Given the description of an element on the screen output the (x, y) to click on. 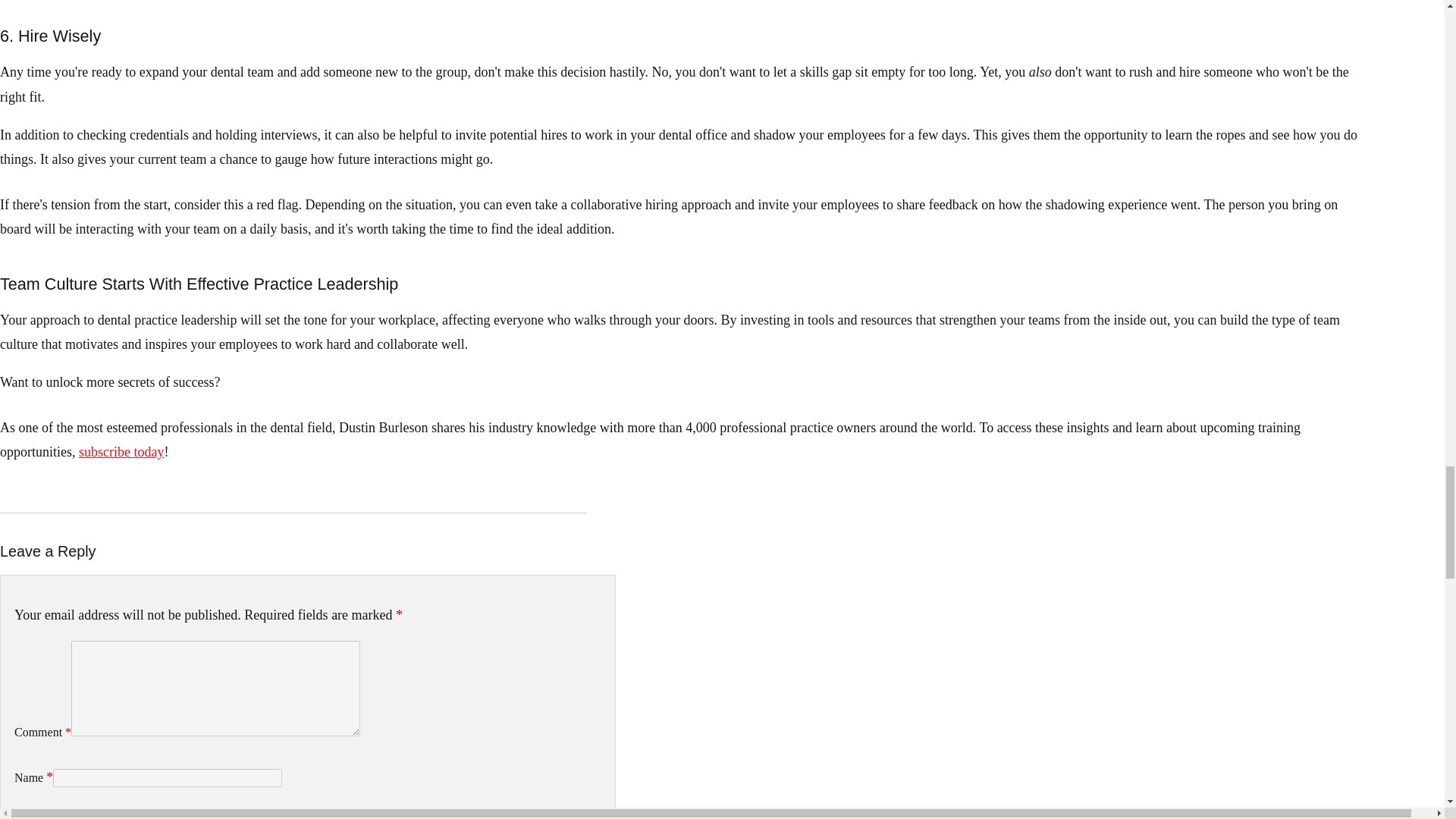
subscribe today (120, 451)
